Given the description of an element on the screen output the (x, y) to click on. 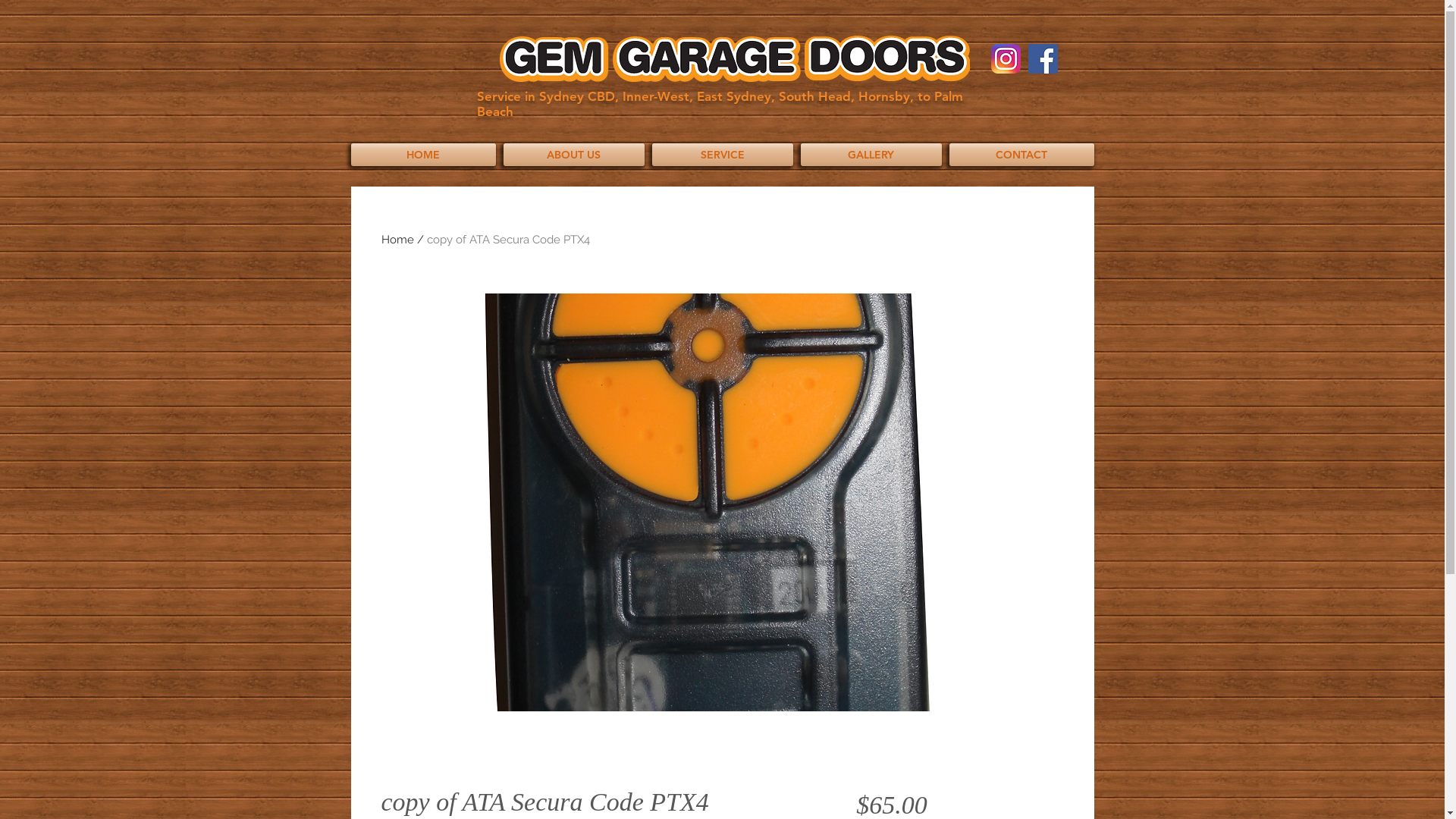
Home Element type: text (396, 239)
HOME Element type: text (424, 154)
GEM GARAGE DOORS - Made to last Element type: hover (733, 58)
GALLERY Element type: text (870, 154)
SERVICE Element type: text (721, 154)
CONTACT Element type: text (1018, 154)
ABOUT US Element type: text (572, 154)
